Given the description of an element on the screen output the (x, y) to click on. 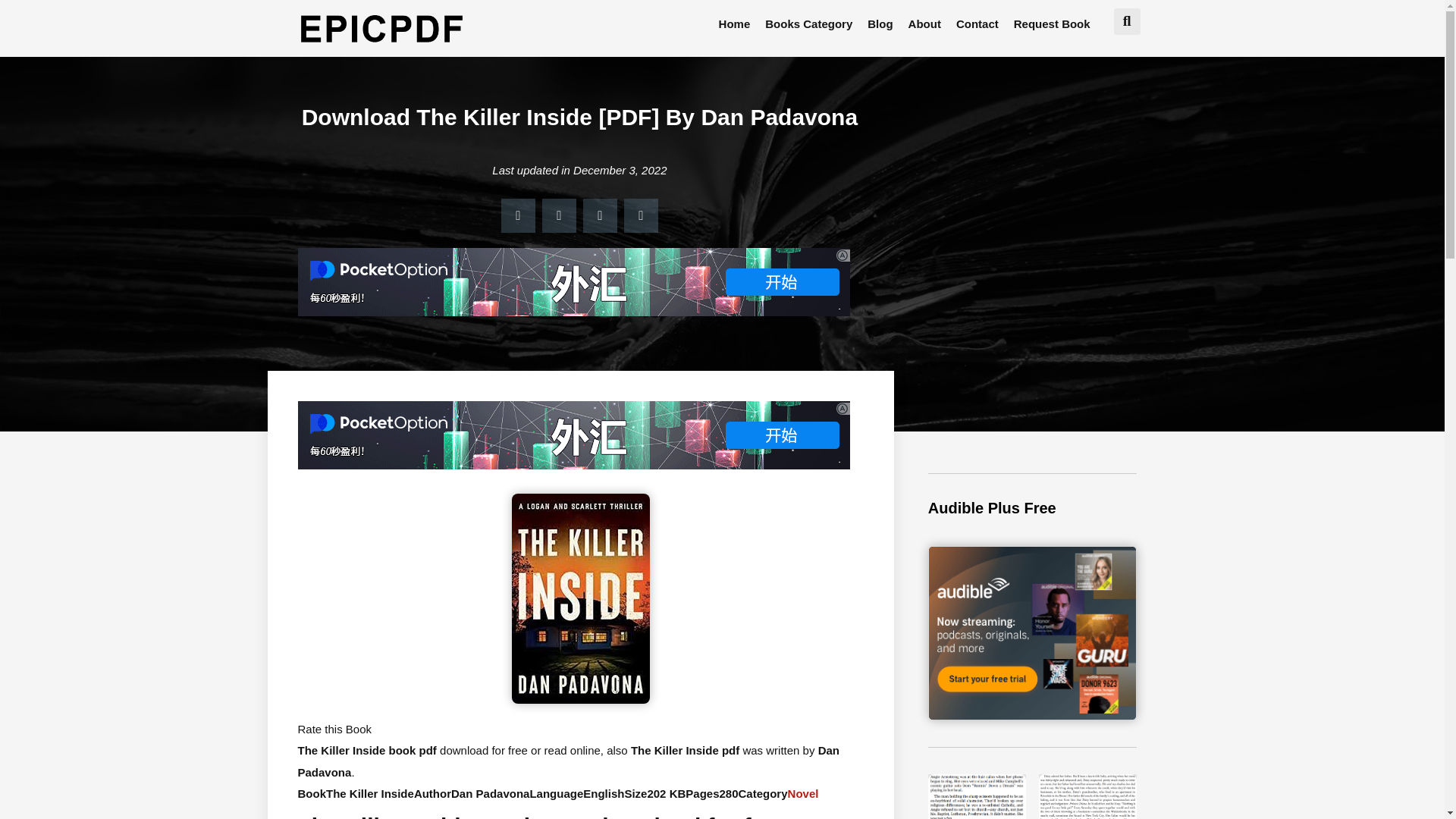
Novel (802, 793)
Blog (879, 23)
Home (734, 23)
Contact (977, 23)
About (925, 23)
Request Book (1051, 23)
Books Category (808, 23)
